Given the description of an element on the screen output the (x, y) to click on. 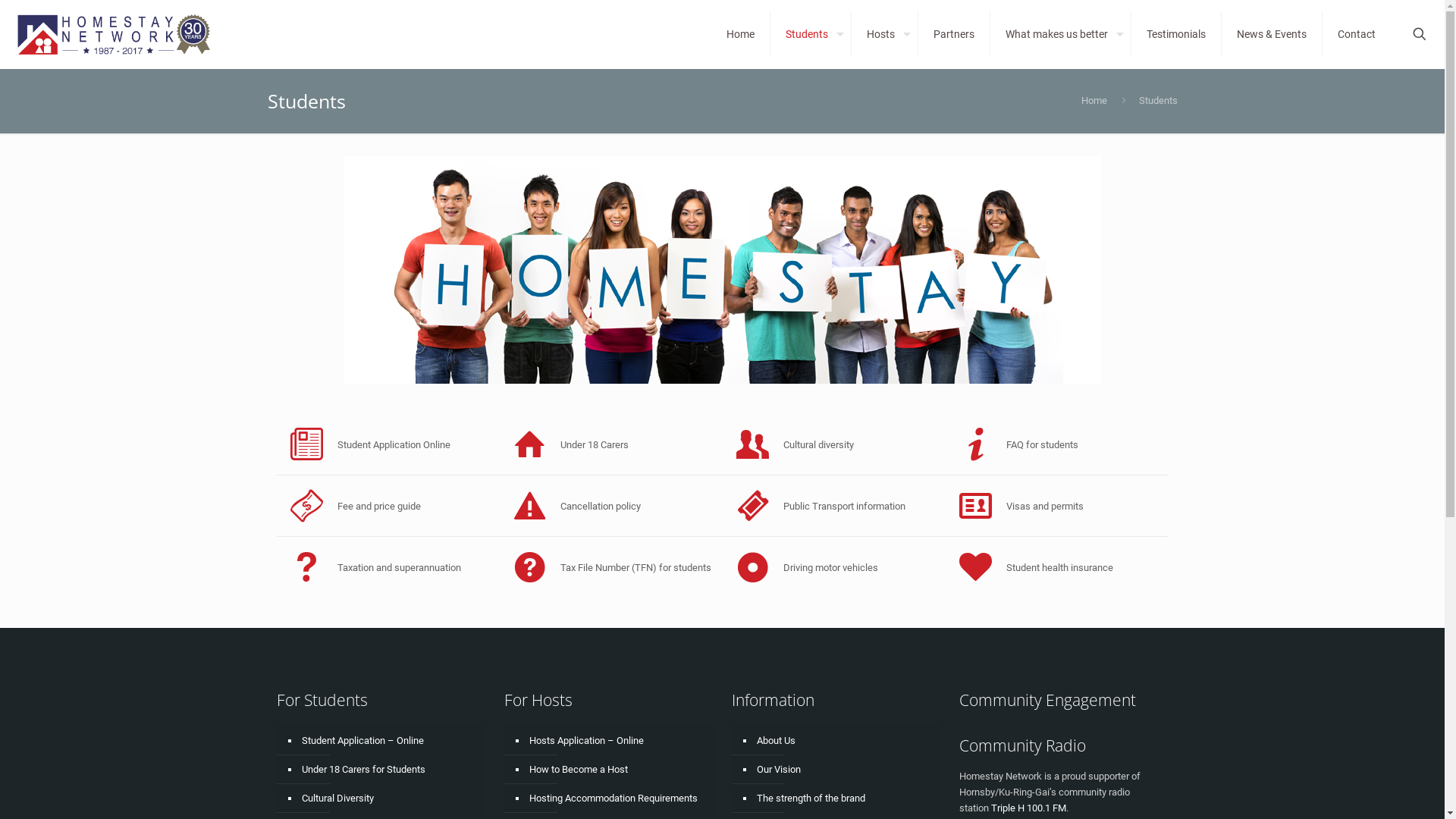
Home Element type: text (1094, 100)
Partners Element type: text (954, 34)
Student Application Online Element type: text (387, 444)
Cultural Diversity Element type: text (387, 798)
Driving motor vehicles Element type: text (833, 566)
Under 18 Carers Element type: text (610, 444)
Cultural diversity Element type: text (833, 444)
About Us Element type: text (842, 740)
What makes us better Element type: text (1060, 34)
The strength of the brand Element type: text (842, 798)
News & Events Element type: text (1271, 34)
Public Transport information Element type: text (833, 505)
Students Element type: text (810, 34)
Cancellation policy Element type: text (610, 505)
Hosts Element type: text (884, 34)
Hosting Accommodation Requirements Element type: text (615, 798)
Contact Element type: text (1356, 34)
How to Become a Host Element type: text (615, 769)
Triple H 100.1 FM Element type: text (1027, 807)
Under 18 Carers for Students Element type: text (387, 769)
Student health insurance Element type: text (1056, 566)
Fee and price guide Element type: text (387, 505)
Testimonials Element type: text (1176, 34)
Home Element type: text (740, 34)
Tax File Number (TFN) for students Element type: text (610, 566)
Our Vision Element type: text (842, 769)
FAQ for students Element type: text (1056, 444)
Homestay Network Element type: hover (117, 34)
Taxation and superannuation Element type: text (387, 566)
